Given the description of an element on the screen output the (x, y) to click on. 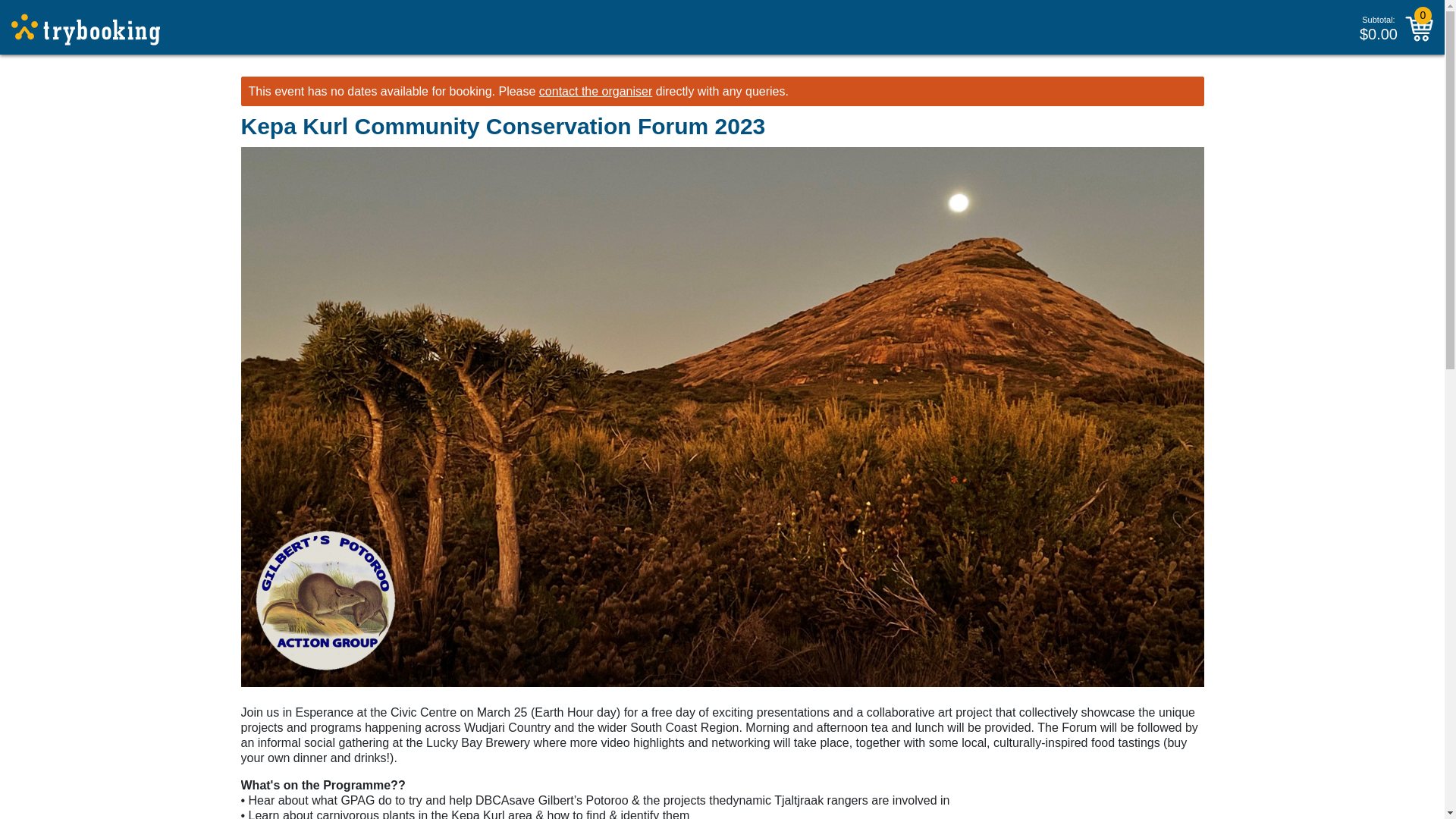
contact the organiser (595, 91)
TryBooking (85, 29)
